Given the description of an element on the screen output the (x, y) to click on. 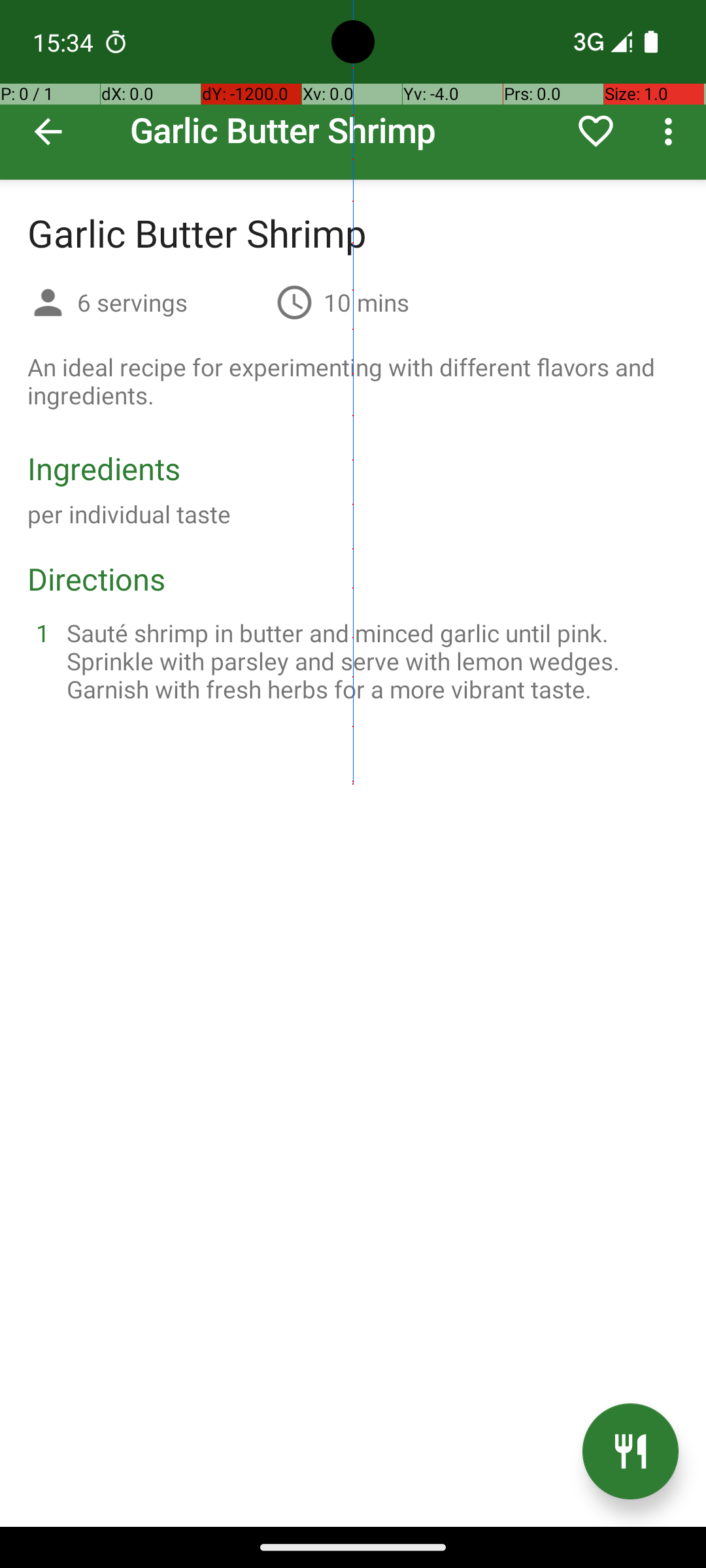
Sauté shrimp in butter and minced garlic until pink. Sprinkle with parsley and serve with lemon wedges. Garnish with fresh herbs for a more vibrant taste. Element type: android.widget.TextView (368, 660)
